Given the description of an element on the screen output the (x, y) to click on. 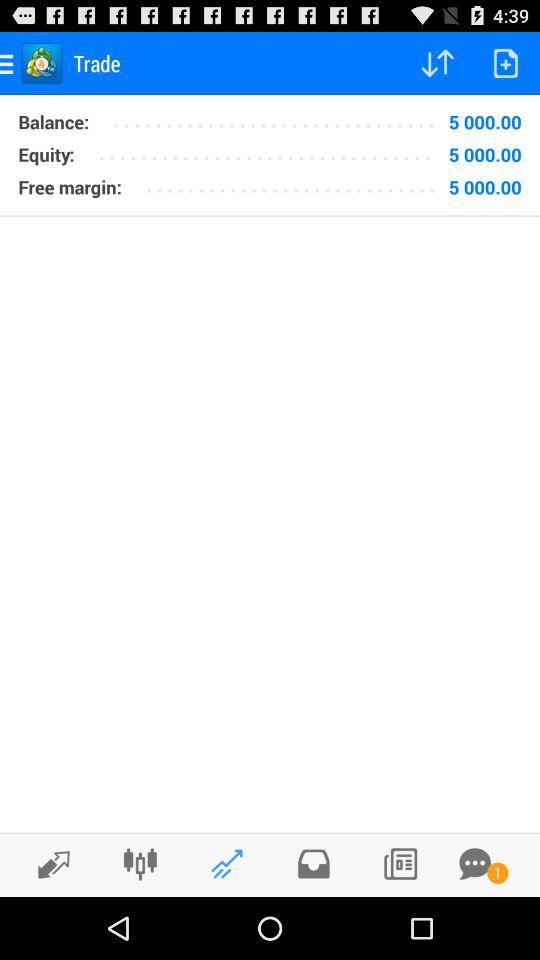
dial (400, 863)
